Given the description of an element on the screen output the (x, y) to click on. 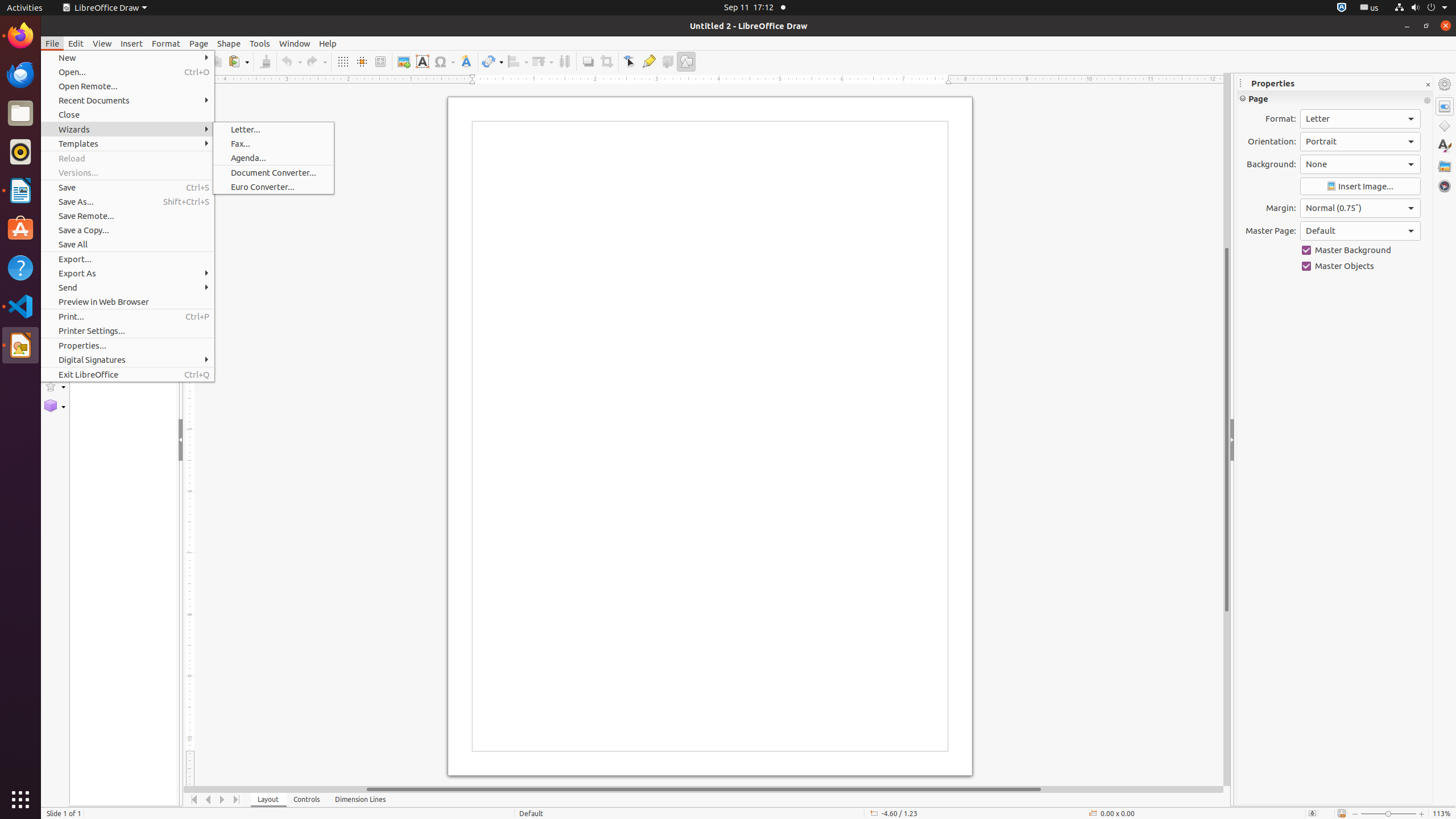
Show Applications Element type: toggle-button (20, 799)
Letter... Element type: menu-item (273, 129)
Transformations Element type: push-button (492, 61)
LibreOffice Draw Element type: menu (103, 7)
Fontwork Style Element type: toggle-button (465, 61)
